Given the description of an element on the screen output the (x, y) to click on. 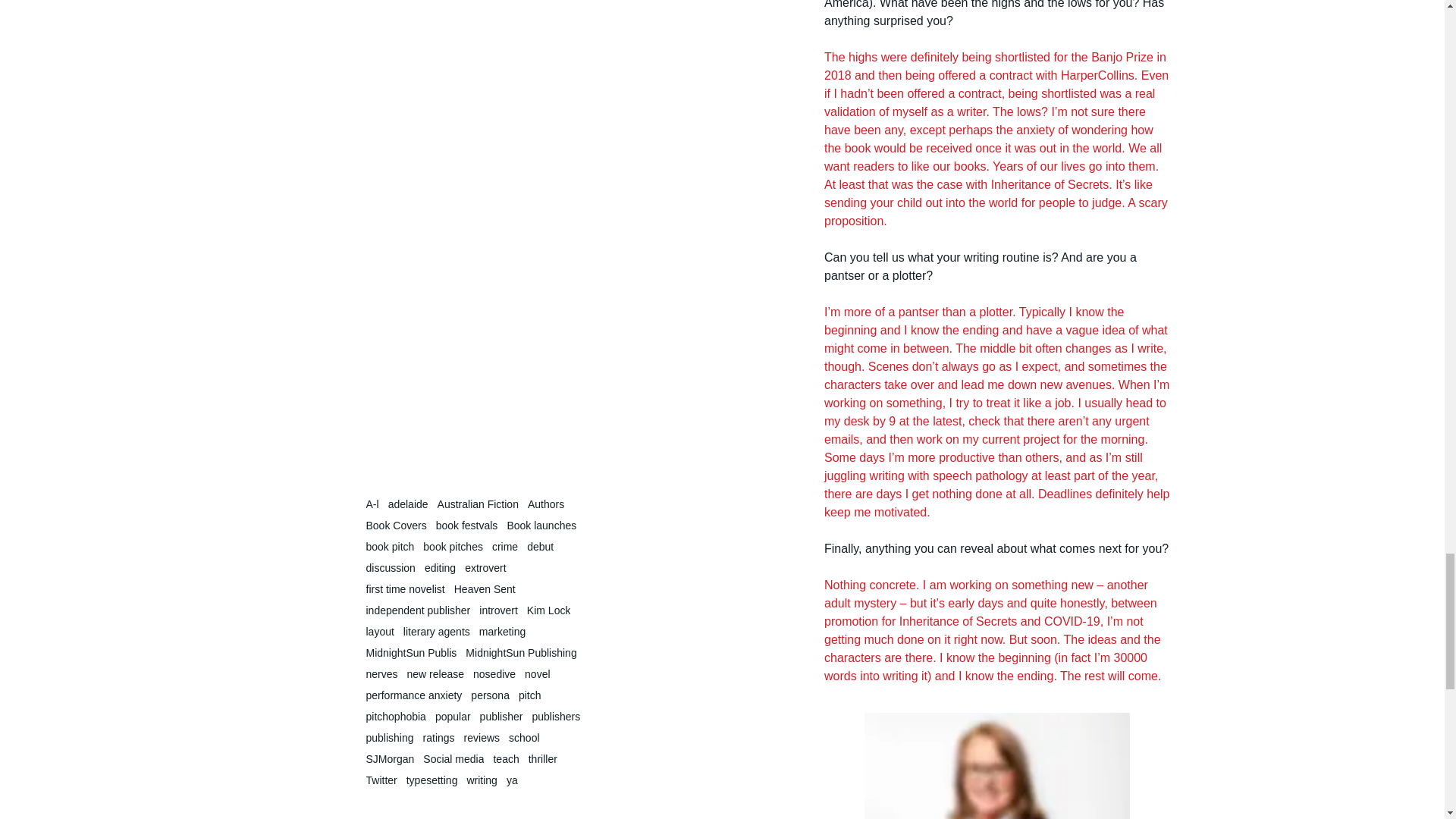
Authors (545, 503)
Australian Fiction (478, 503)
A-l (371, 503)
adelaide (408, 503)
